Given the description of an element on the screen output the (x, y) to click on. 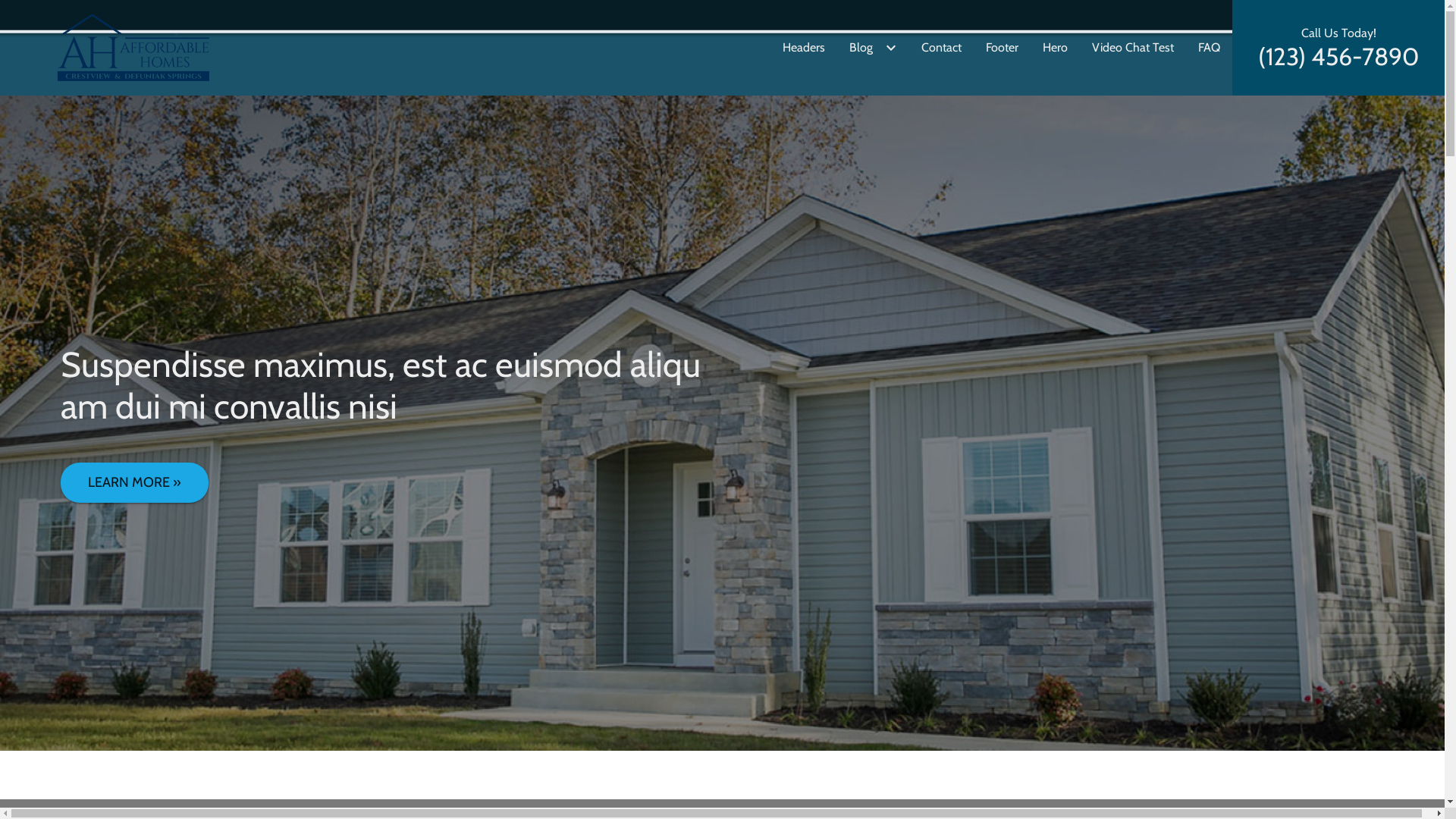
Headers Element type: text (803, 47)
FAQ Element type: text (1209, 47)
(123) 456-7890 Element type: text (1338, 56)
Footer Element type: text (1001, 47)
Contact Element type: text (941, 47)
Blog Element type: text (873, 47)
Hero Element type: text (1054, 47)
Video Chat Test Element type: text (1132, 47)
